Given the description of an element on the screen output the (x, y) to click on. 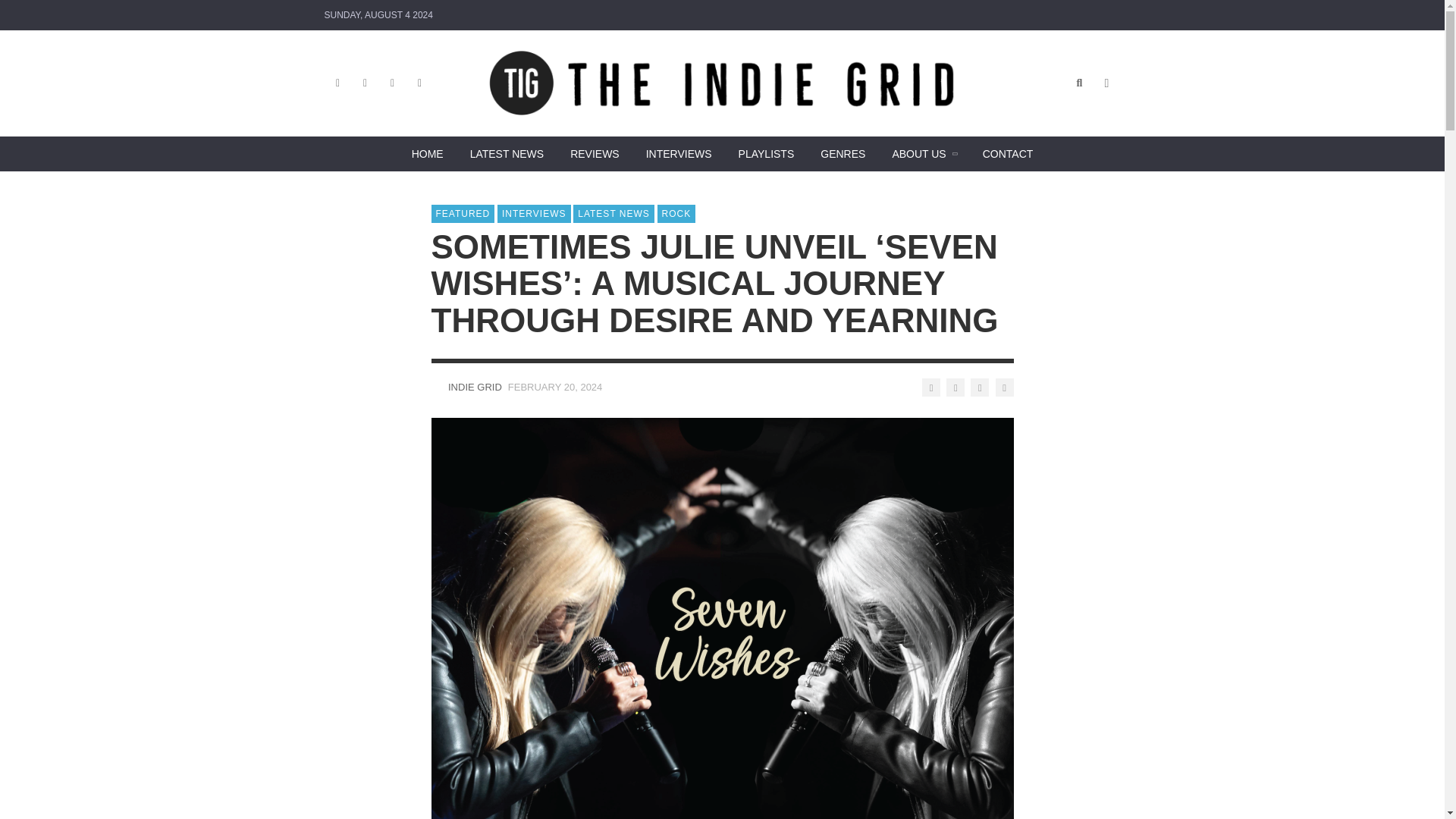
LATEST NEWS (507, 153)
INDIE GRID (475, 386)
CONTACT (1007, 153)
FEBRUARY 20, 2024 (555, 386)
INTERVIEWS (678, 153)
FEATURED (462, 213)
REVIEWS (595, 153)
HOME (427, 153)
INTERVIEWS (533, 213)
PLAYLISTS (766, 153)
GENRES (843, 153)
ROCK (676, 213)
LATEST NEWS (613, 213)
ABOUT US (924, 153)
